Given the description of an element on the screen output the (x, y) to click on. 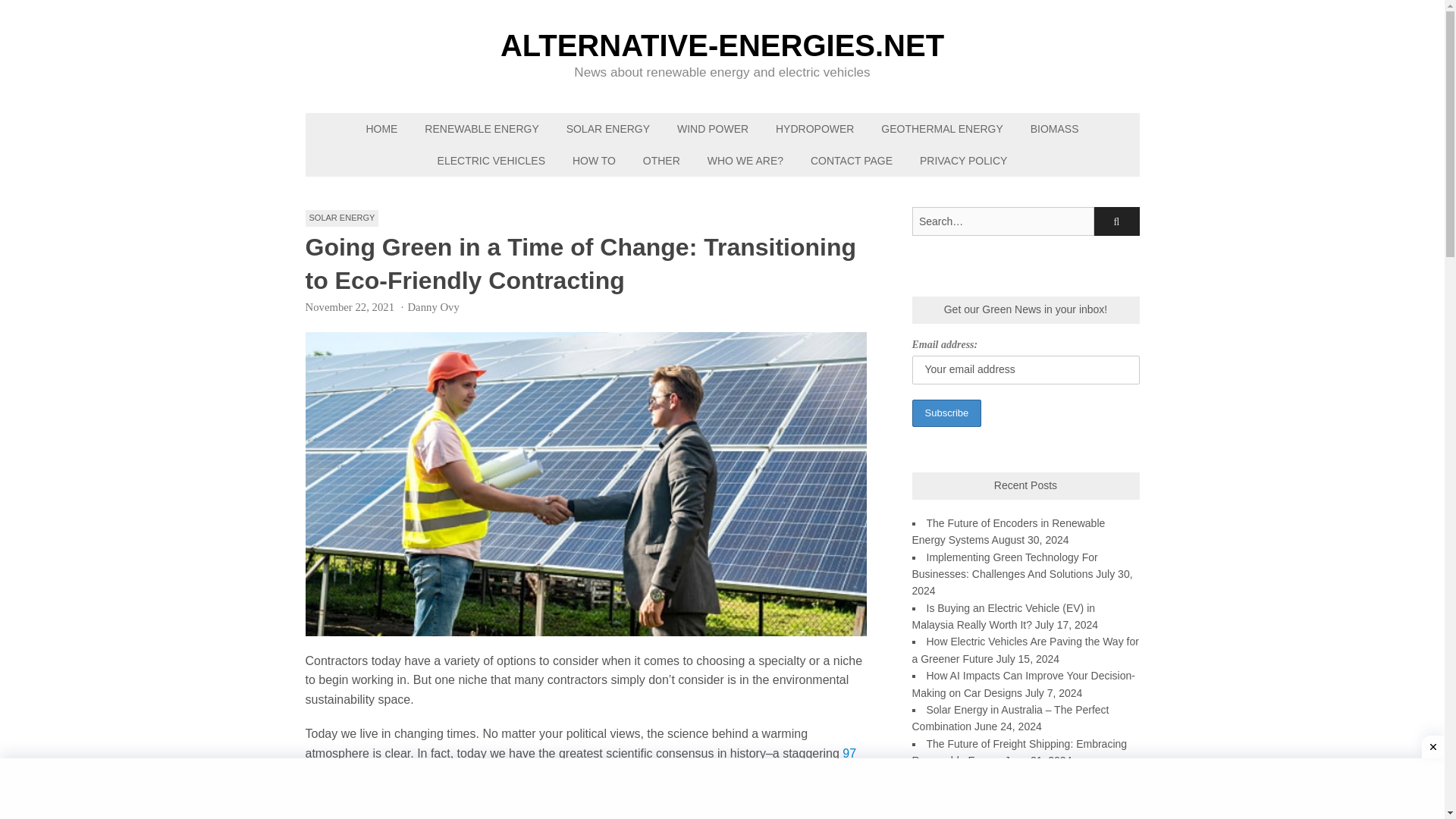
ALTERNATIVE-ENERGIES.NET (721, 45)
OTHER (661, 160)
Alternative-energies.net (721, 45)
PRIVACY POLICY (963, 160)
BIOMASS (1053, 128)
HOME (381, 128)
97 percent or more (580, 762)
WHO WE ARE? (744, 160)
CONTACT PAGE (850, 160)
